Given the description of an element on the screen output the (x, y) to click on. 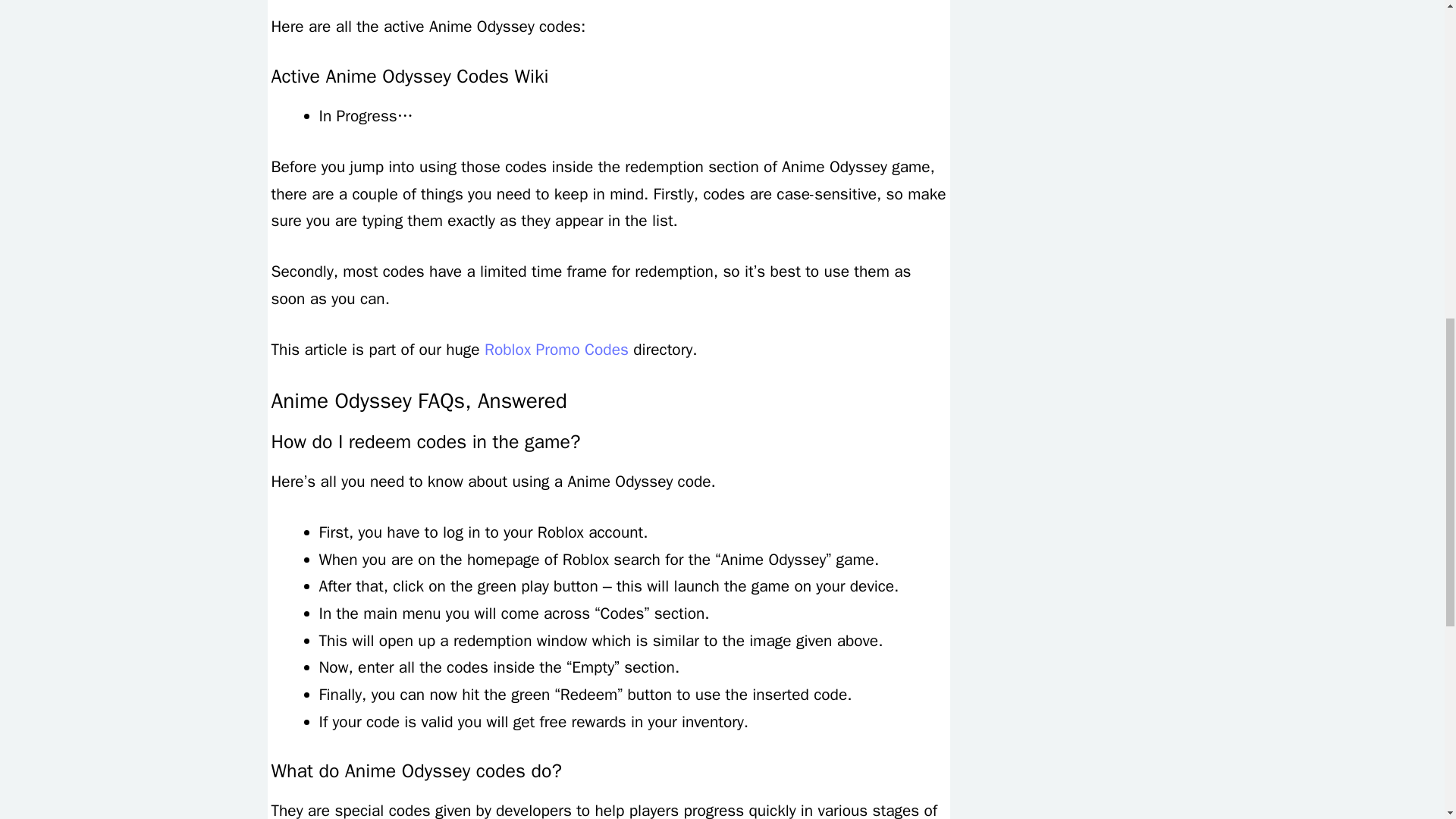
Roblox Promo Codes (556, 349)
